Given the description of an element on the screen output the (x, y) to click on. 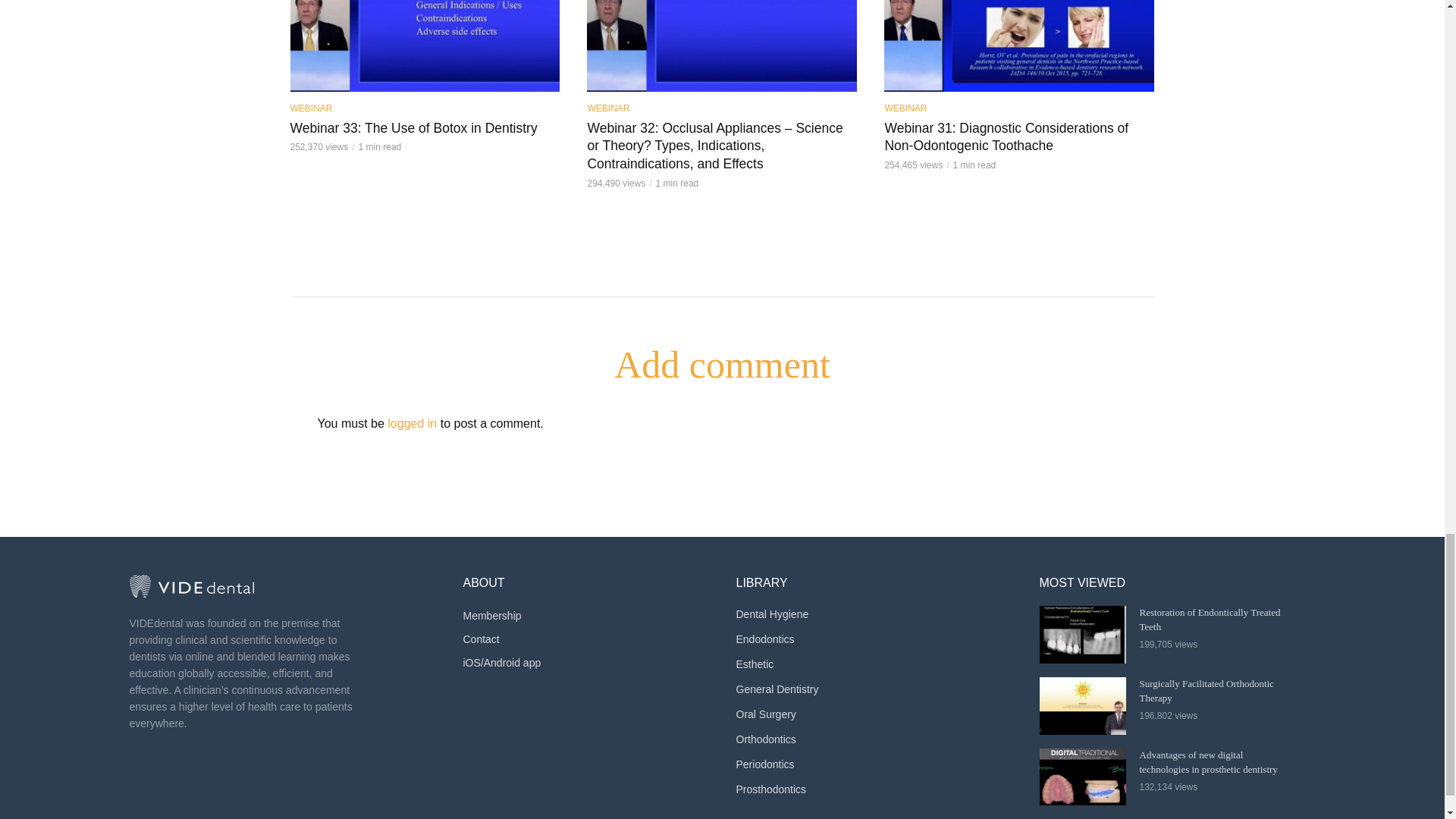
Surgically Facilitated Orthodontic Therapy (1082, 705)
Restoration of Endontically Treated Teeth (1082, 634)
Webinar 33: The Use of Botox in Dentistry (424, 45)
